Given the description of an element on the screen output the (x, y) to click on. 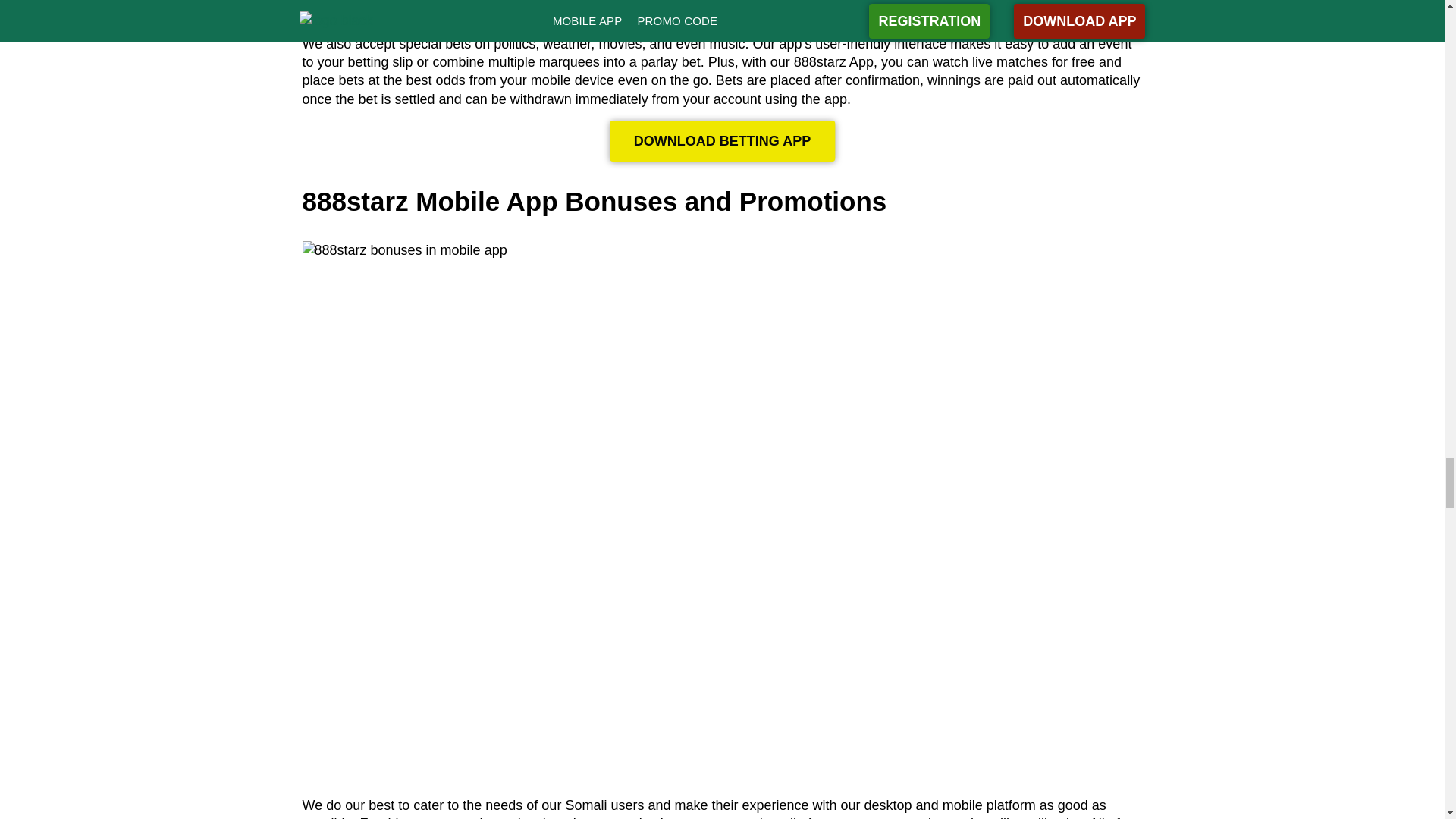
DOWNLOAD BETTING APP (722, 140)
